Given the description of an element on the screen output the (x, y) to click on. 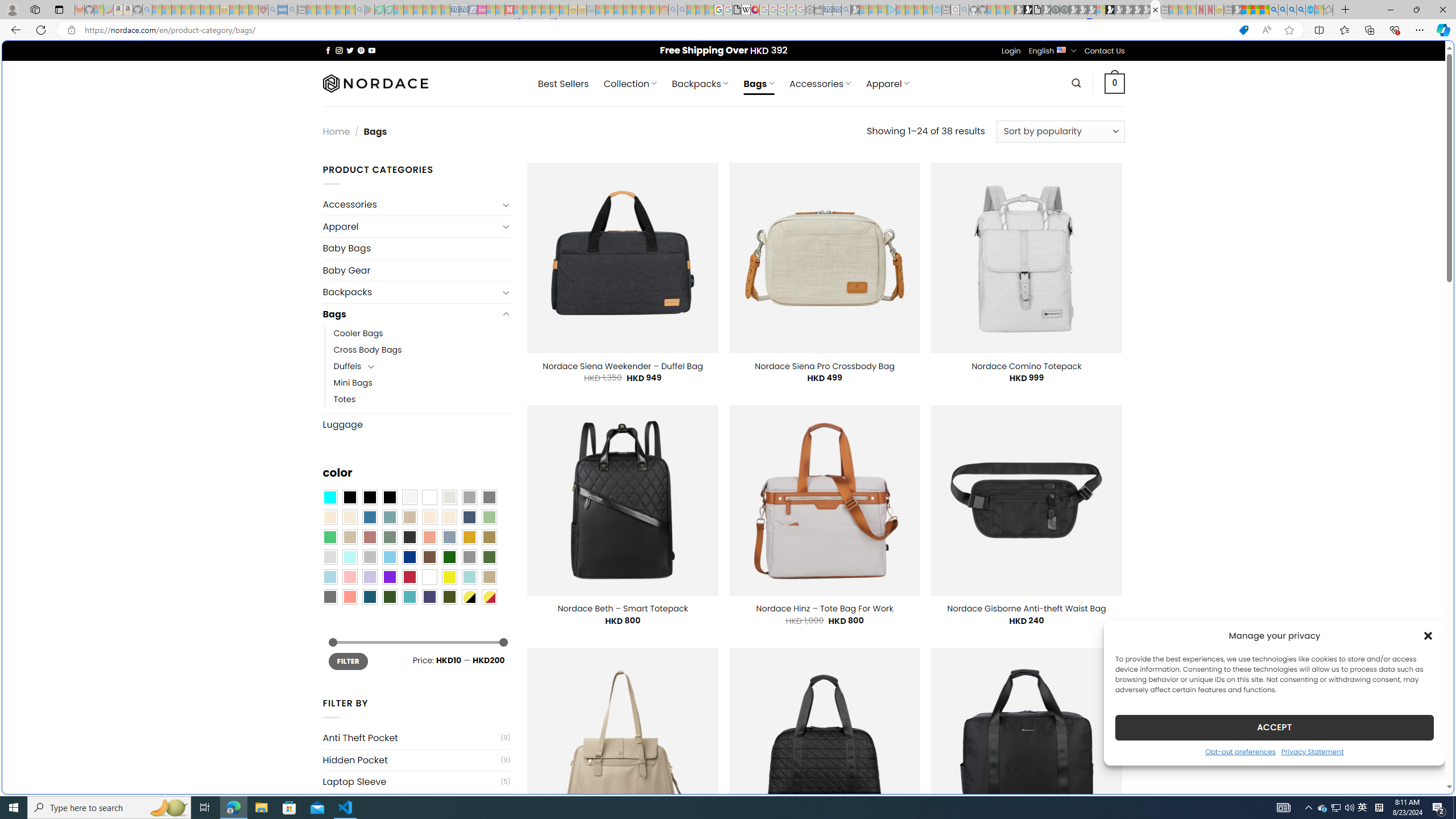
Red (408, 577)
Capri Blue (369, 596)
Forest (389, 596)
Apparel (410, 226)
Light Purple (369, 577)
 0  (1115, 83)
Pearly White (408, 497)
